Given the description of an element on the screen output the (x, y) to click on. 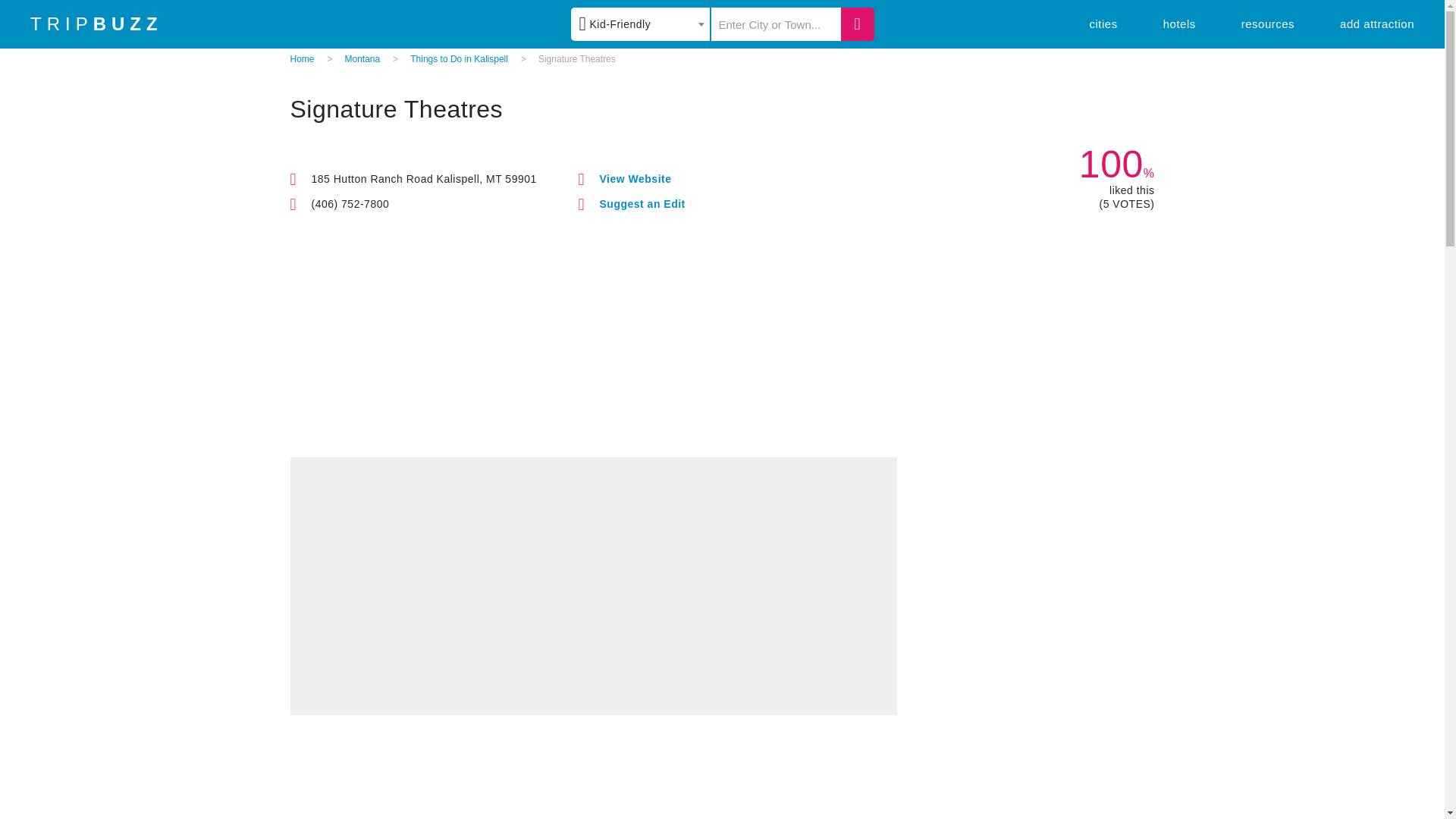
hotels (1179, 23)
resources (1267, 23)
View Website (634, 178)
Home (301, 59)
hotels (1179, 23)
Kid-Friendly (639, 24)
Login (832, 130)
add attraction (1376, 23)
Montana (362, 59)
cities (1103, 23)
